Given the description of an element on the screen output the (x, y) to click on. 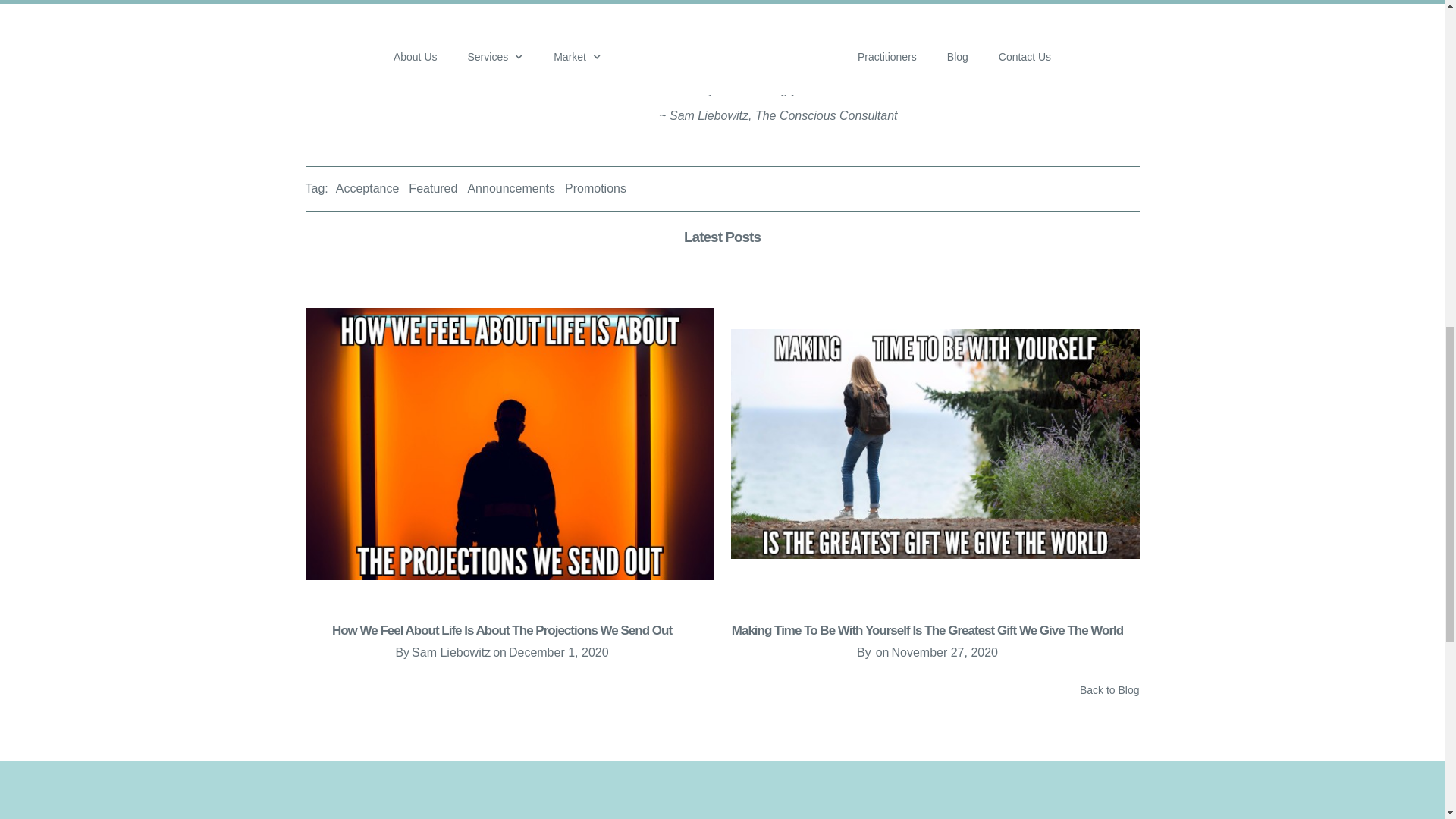
The Conscious Consultant (826, 115)
Acceptance (367, 188)
